Given the description of an element on the screen output the (x, y) to click on. 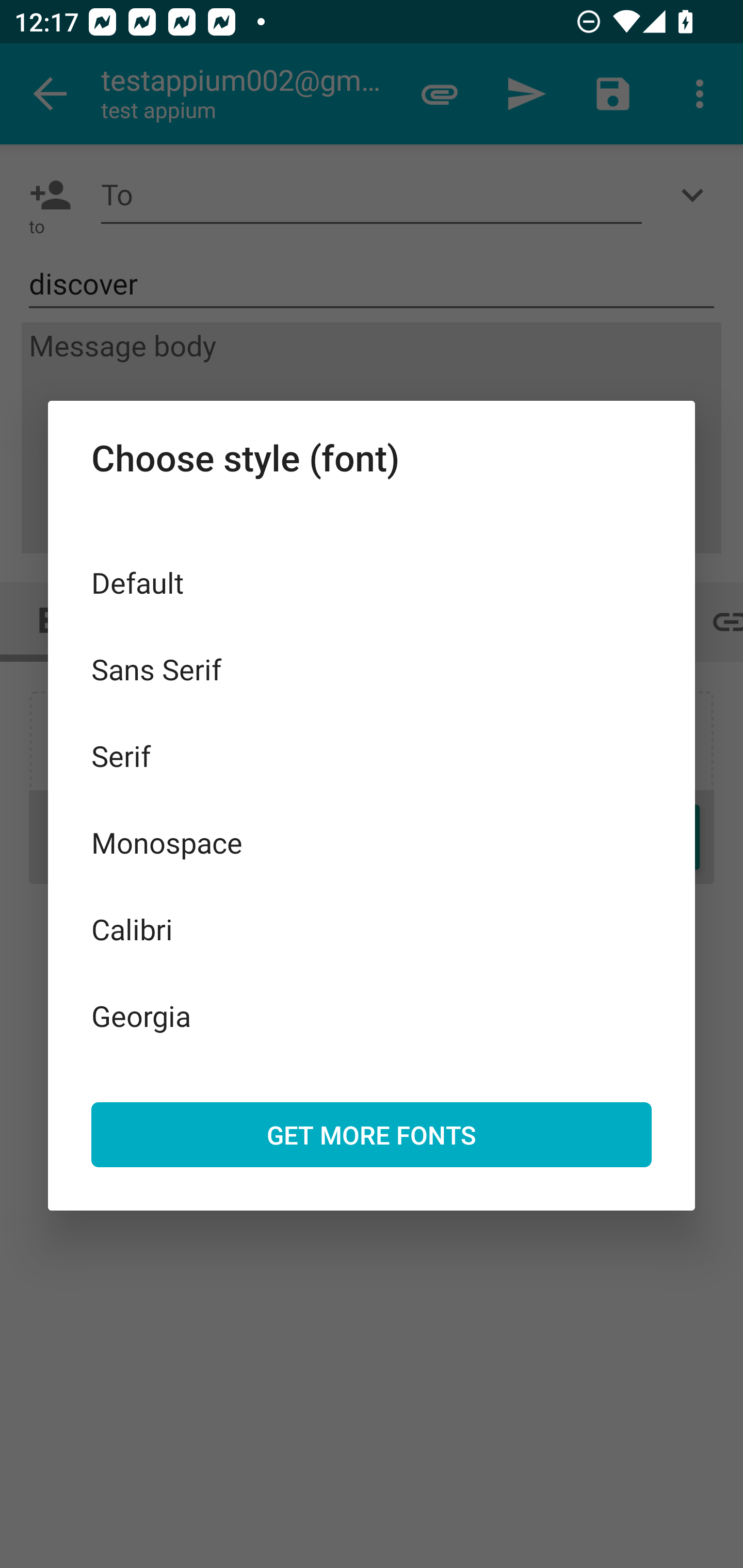
Default (371, 582)
Sans Serif (371, 668)
Serif (371, 755)
Monospace (371, 842)
Calibri (371, 928)
Georgia (371, 1015)
GET MORE FONTS (371, 1134)
